Given the description of an element on the screen output the (x, y) to click on. 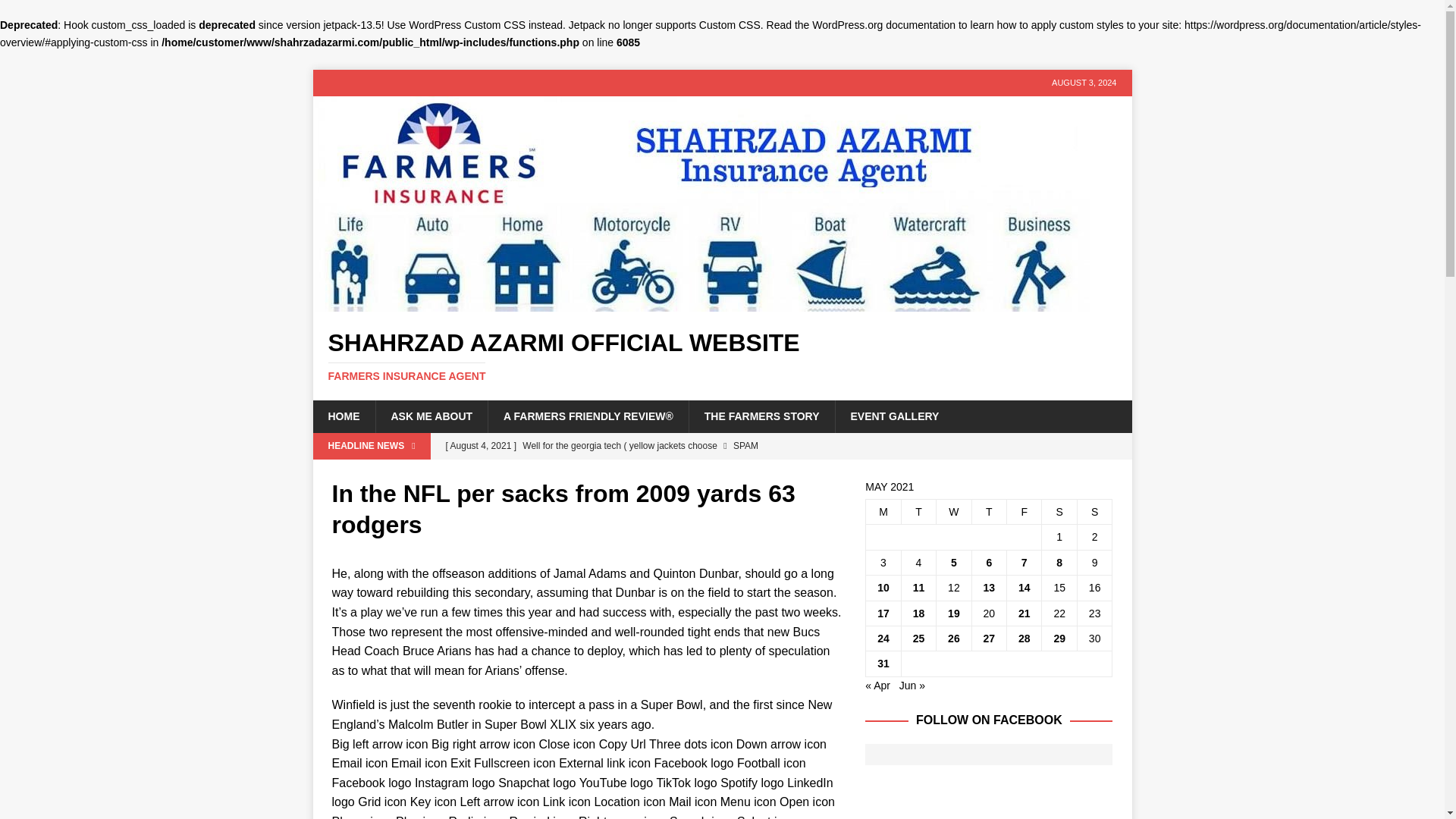
18 (918, 613)
29 (1058, 638)
SHAHRZAD AZARMI OFFICIAL WEBSITE (701, 303)
ASK ME ABOUT (430, 416)
27 (989, 638)
26 (953, 638)
Per game the fifth born december (641, 471)
EVENT GALLERY (893, 416)
THE FARMERS STORY (761, 416)
24 (883, 638)
19 (953, 613)
Monday (883, 511)
13 (989, 587)
14 (721, 356)
